Given the description of an element on the screen output the (x, y) to click on. 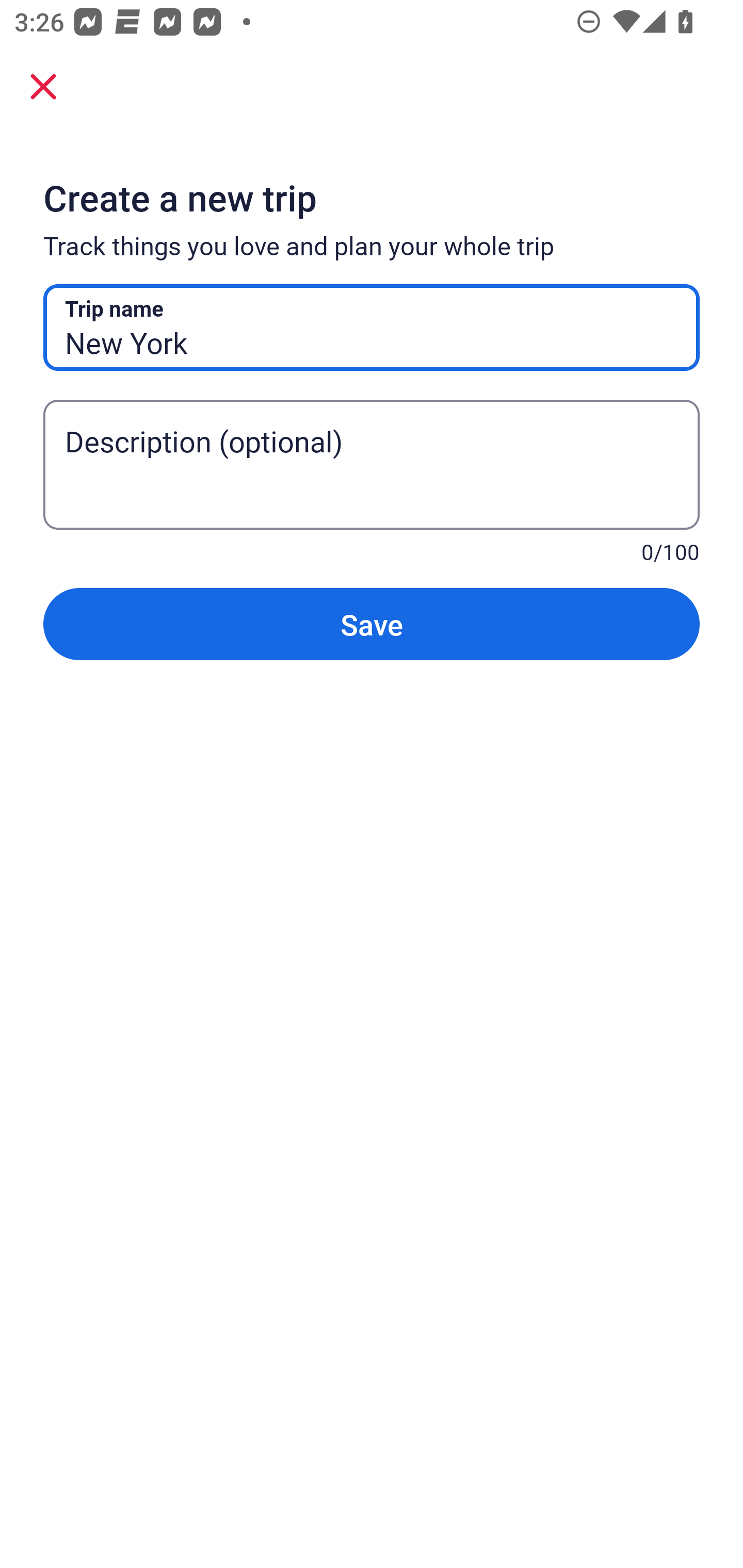
Close (43, 86)
New York Trip name Trip name (371, 327)
Save Button Save (371, 624)
